Given the description of an element on the screen output the (x, y) to click on. 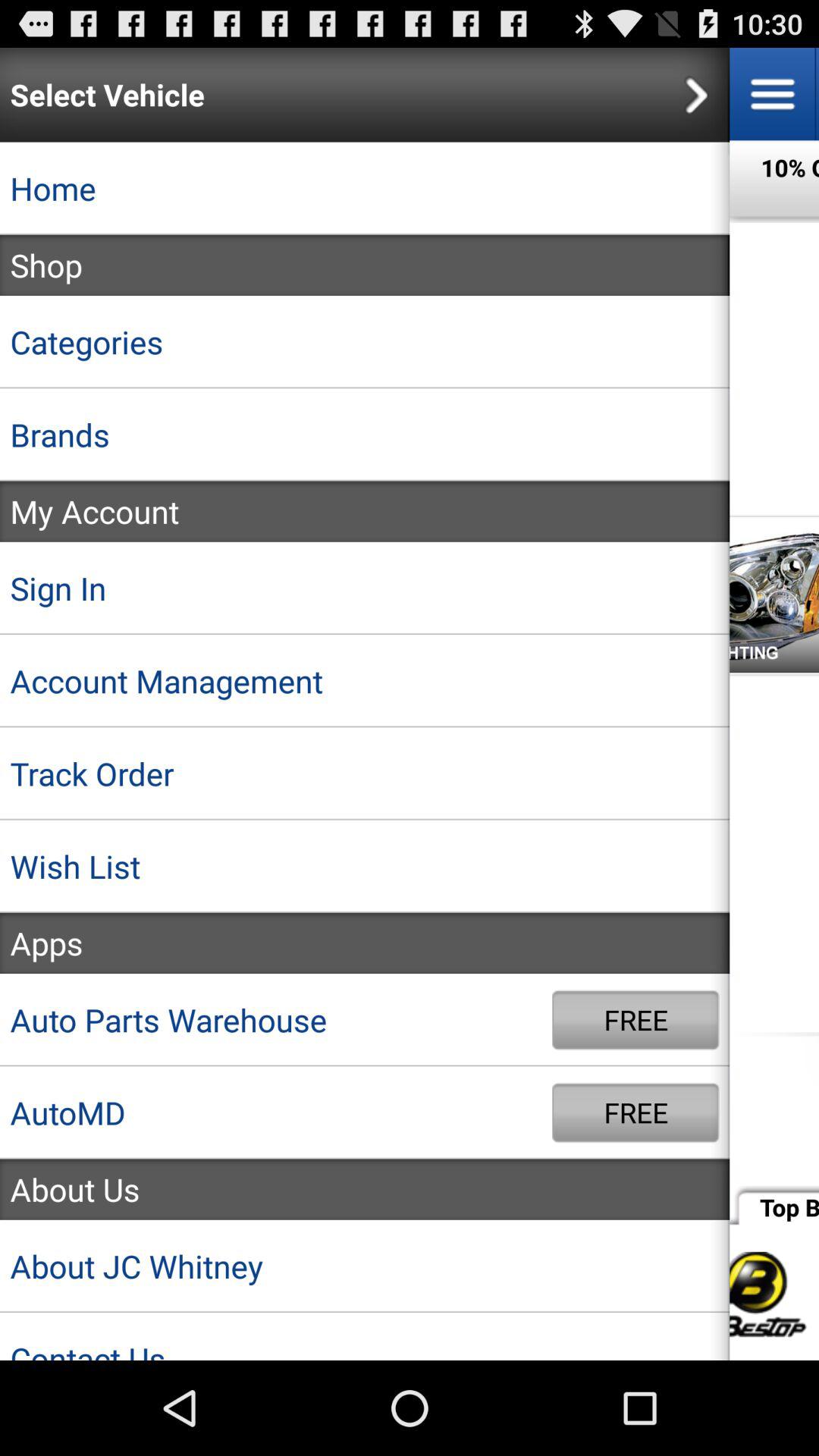
turn on the icon above the account management (364, 588)
